Given the description of an element on the screen output the (x, y) to click on. 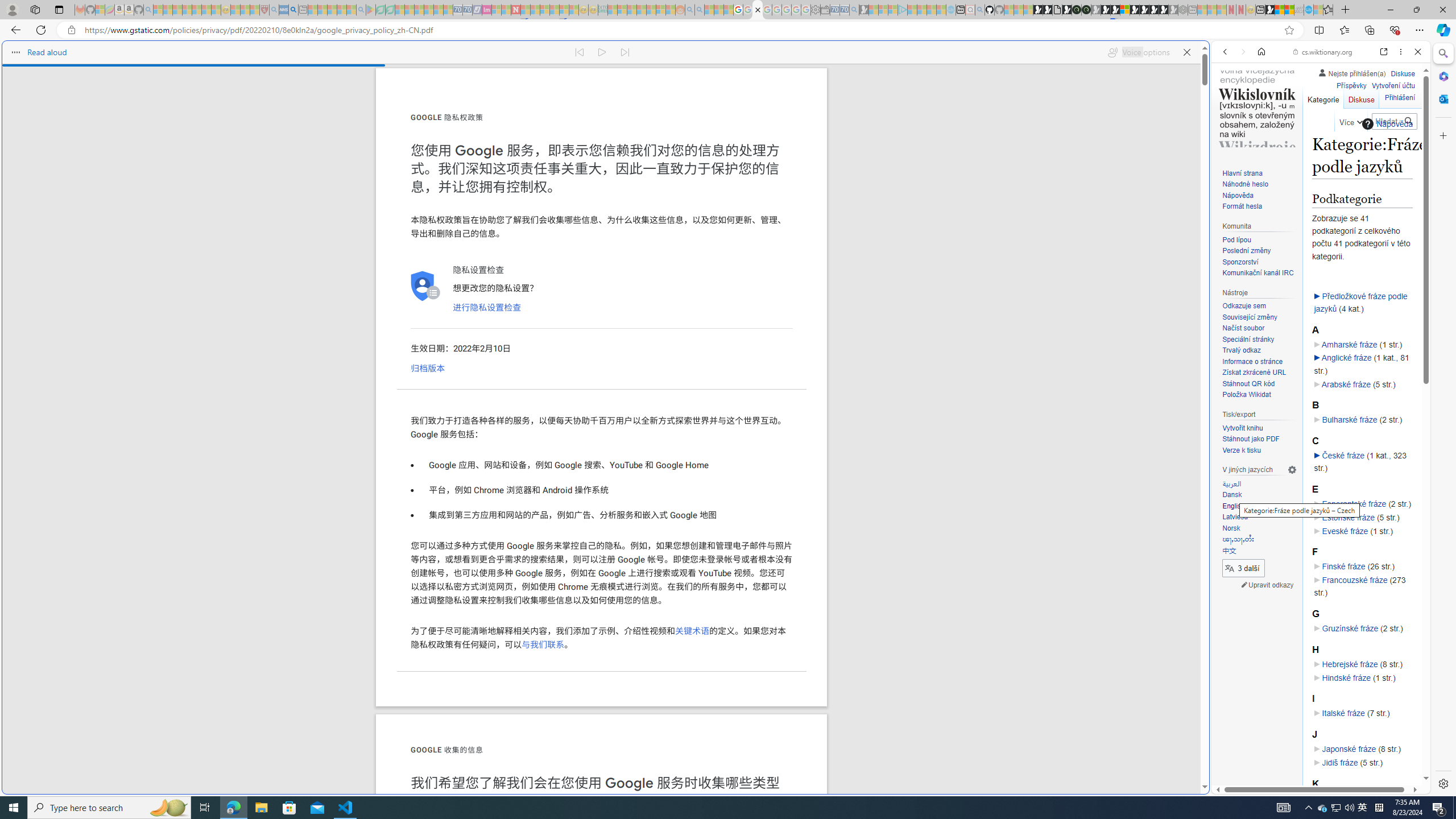
Future Focus Report 2024 (1085, 9)
Close Customize pane (1442, 135)
Recipes - MSN - Sleeping (234, 9)
Tabs you've opened (885, 151)
Preferences (1403, 129)
Search Filter, IMAGES (1262, 129)
